Given the description of an element on the screen output the (x, y) to click on. 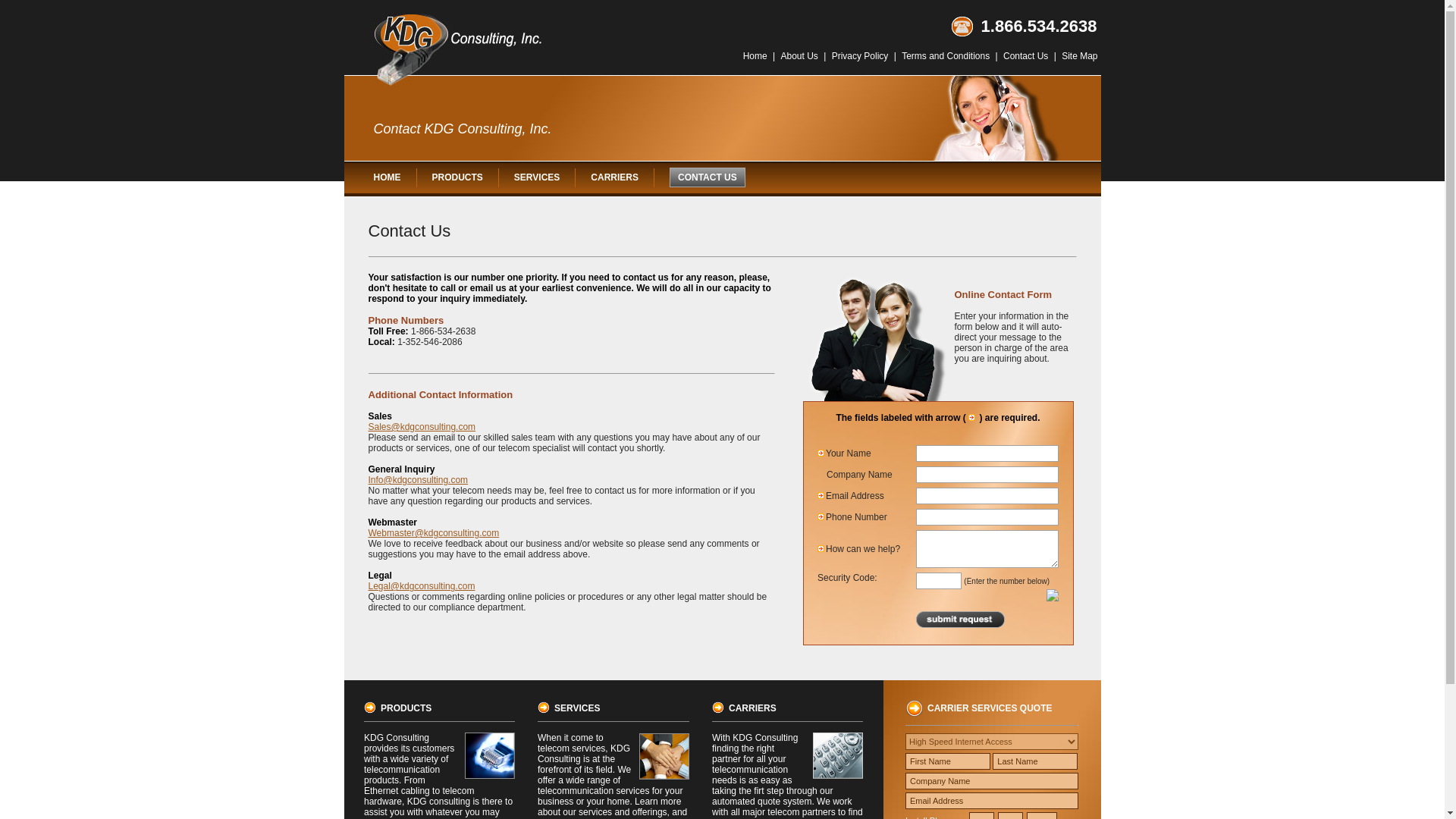
PRODUCTS (457, 176)
First Name (947, 760)
Site Map (1079, 54)
Privacy Policy (859, 54)
Contact Us (1025, 54)
Company Name (991, 781)
SERVICES (536, 176)
Home (754, 54)
HOME (386, 176)
CONTACT US (707, 176)
